Given the description of an element on the screen output the (x, y) to click on. 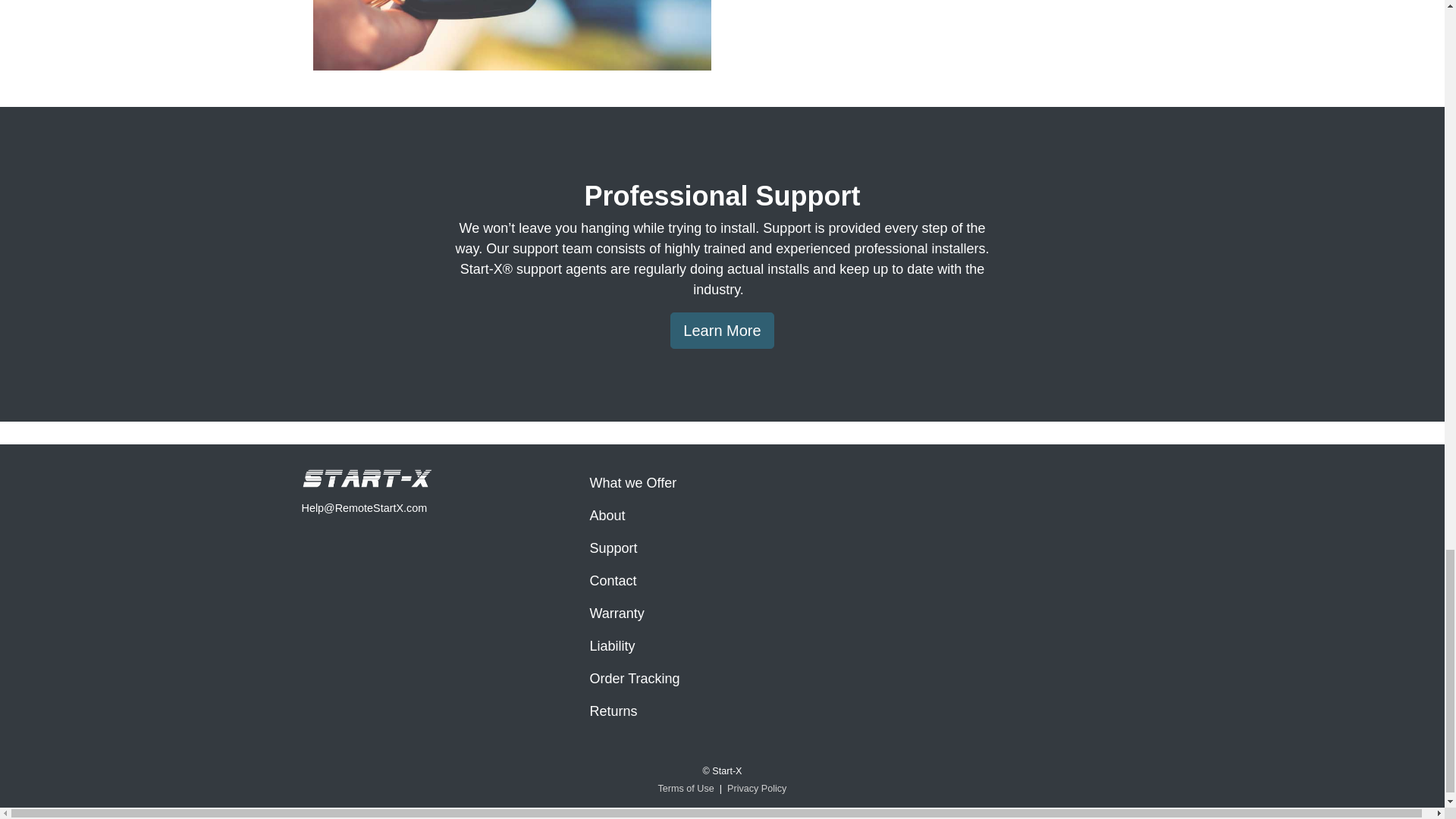
Returns (721, 711)
Learn More (721, 330)
Returns (721, 711)
Order Tracking (721, 678)
Warranty (721, 613)
What we Offer (721, 482)
What we Offer (721, 482)
Order Tracking (721, 678)
Warranty (721, 613)
Support (721, 548)
Contact (721, 581)
Liability (721, 645)
Privacy Policy (756, 789)
Support (721, 548)
About (721, 515)
